Given the description of an element on the screen output the (x, y) to click on. 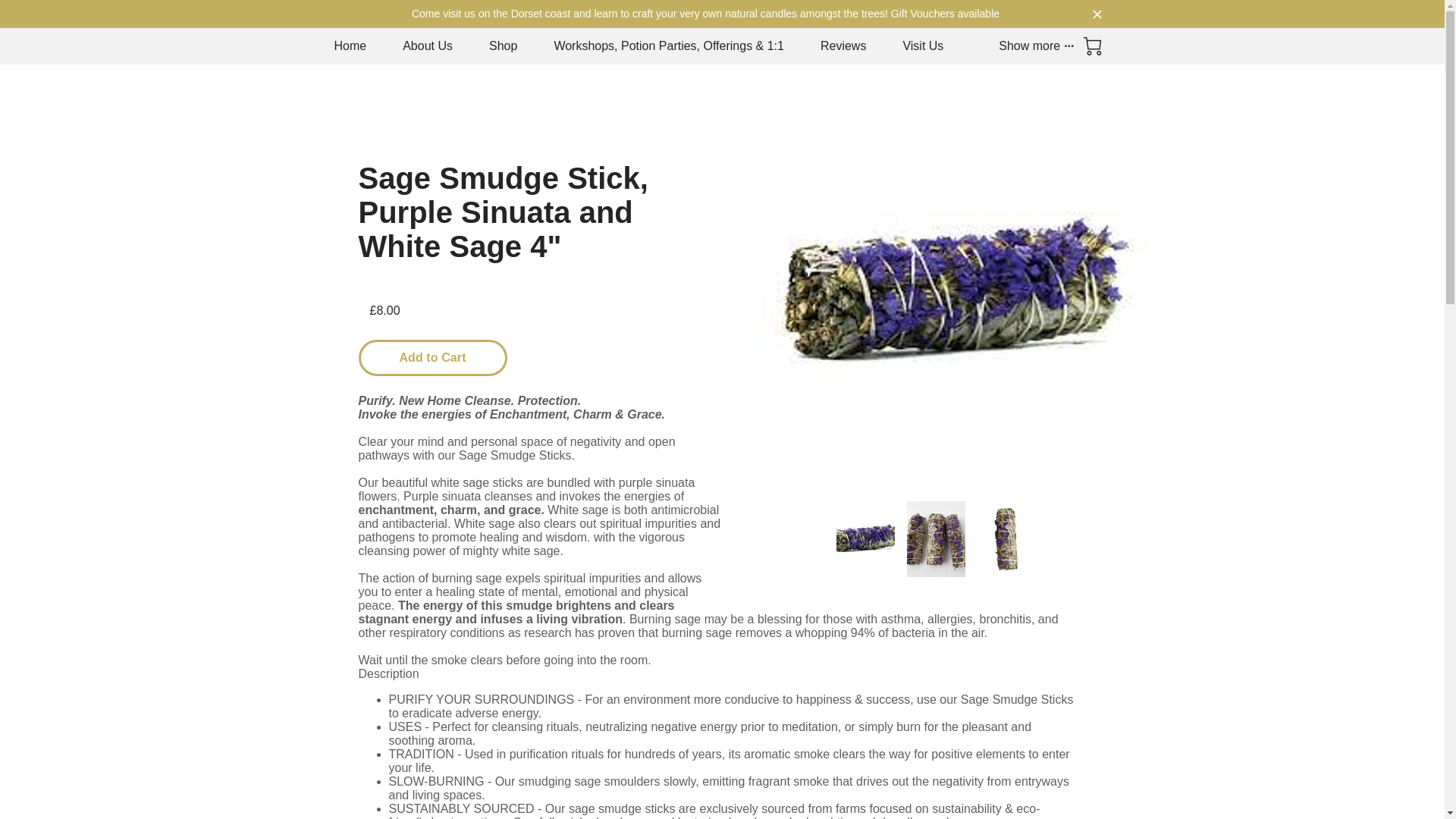
Reviews (843, 46)
Home (349, 46)
Visit Us (922, 46)
0 (1091, 45)
Add to Cart (432, 357)
Show more (1034, 46)
About Us (427, 46)
Shop (502, 46)
